Given the description of an element on the screen output the (x, y) to click on. 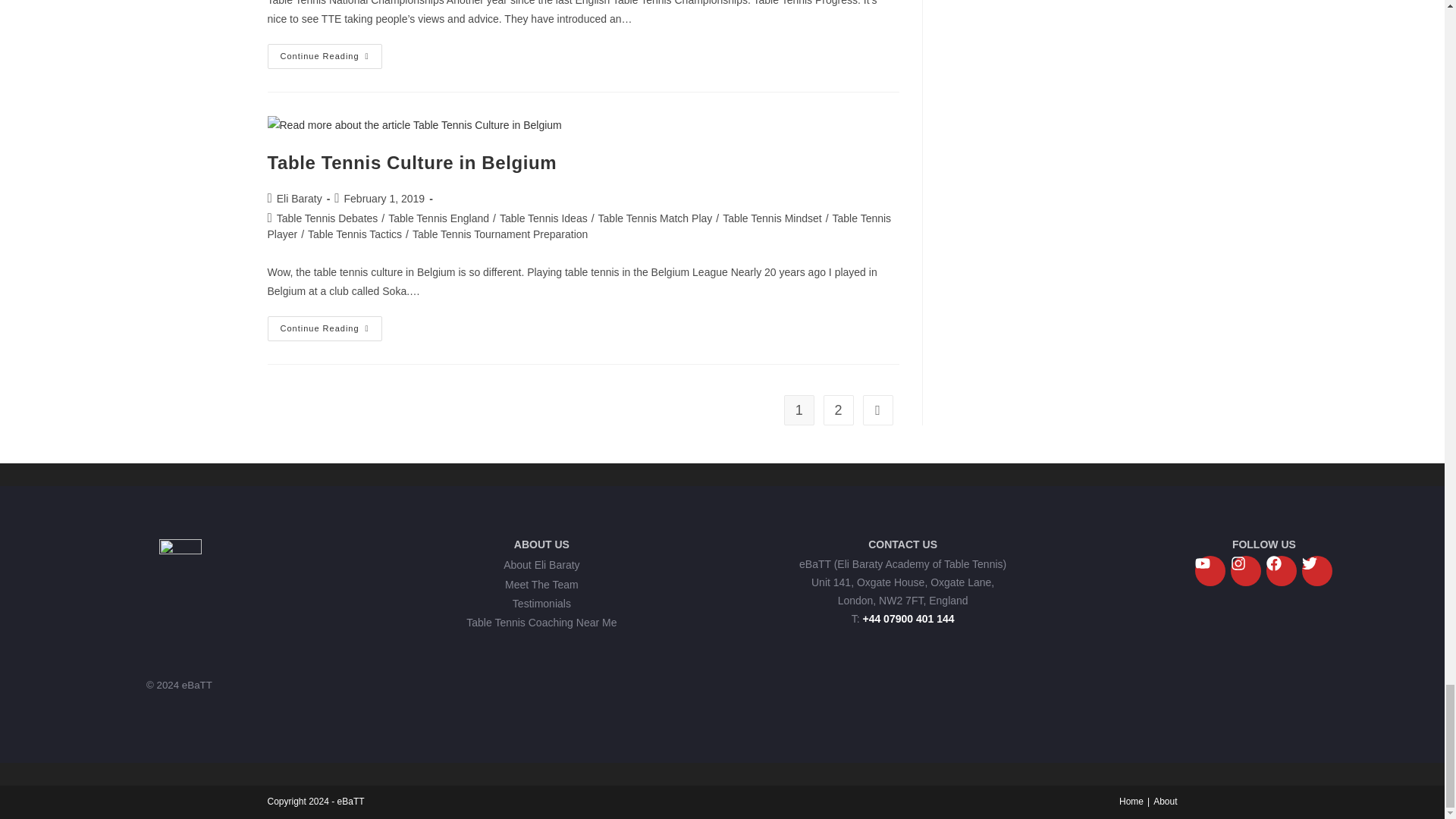
Posts by Eli Baraty (298, 198)
